Given the description of an element on the screen output the (x, y) to click on. 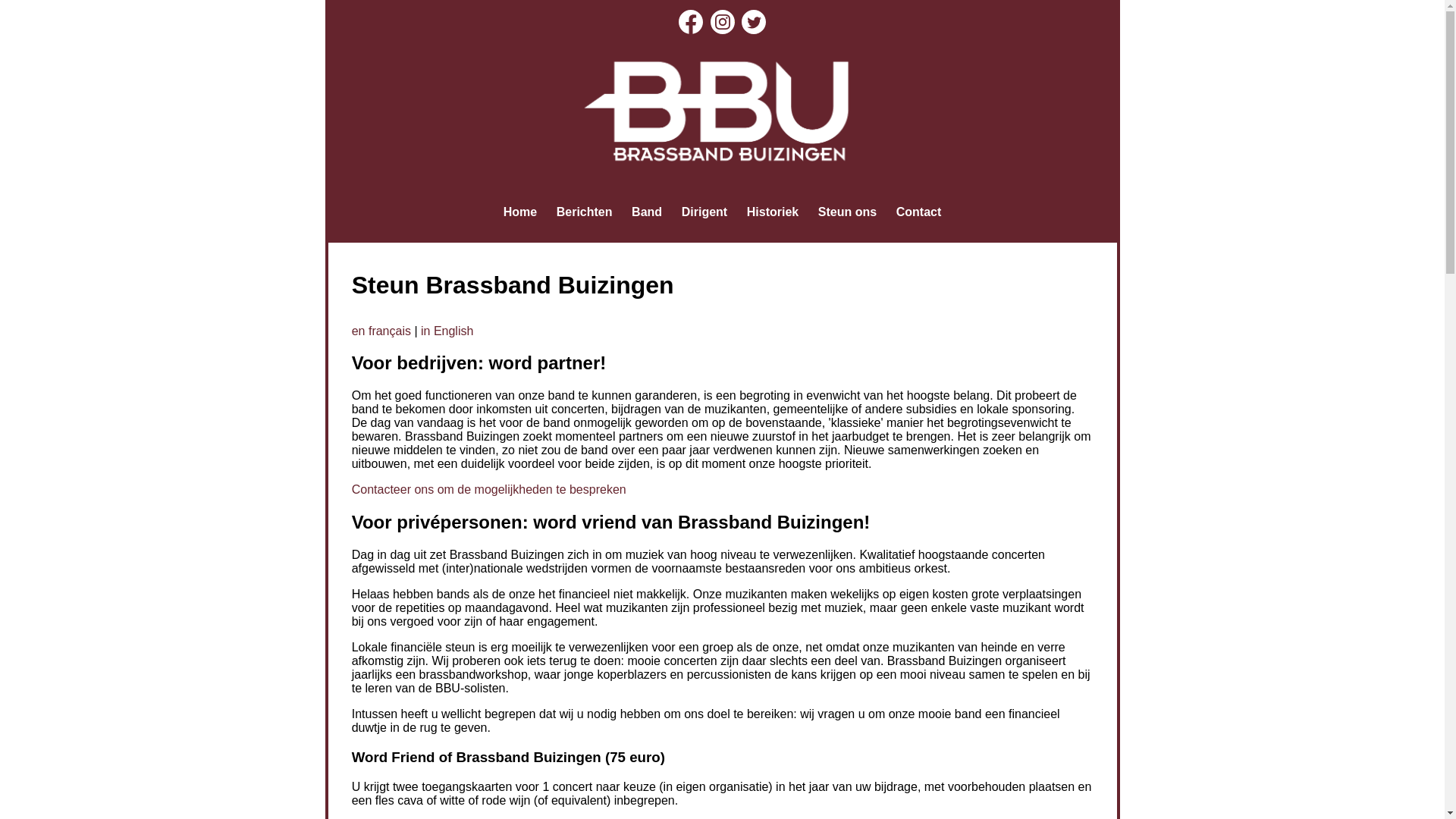
Steun ons Element type: text (847, 211)
Instagram Element type: text (721, 21)
in English Element type: text (446, 330)
Dirigent Element type: text (704, 211)
Historiek Element type: text (772, 211)
Home Element type: text (519, 211)
Twitter Element type: text (753, 21)
Contacteer ons om de mogelijkheden te bespreken Element type: text (488, 489)
Facebook Element type: text (690, 21)
Berichten Element type: text (583, 211)
Band Element type: text (646, 211)
Contact Element type: text (918, 211)
